Given the description of an element on the screen output the (x, y) to click on. 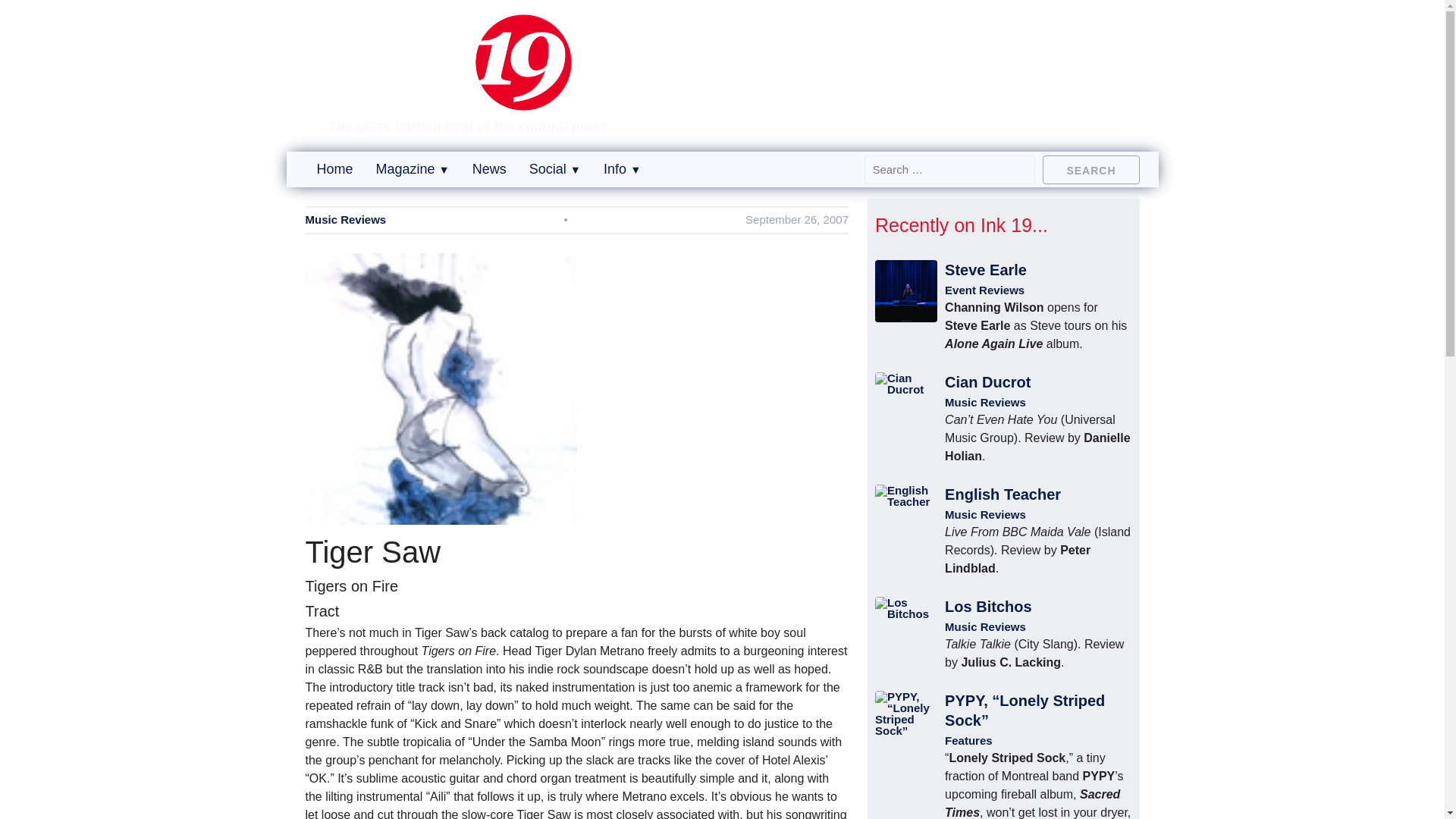
Search (1090, 168)
Search (1090, 168)
News (488, 168)
Ink 19 (471, 100)
Info (622, 168)
Search (1090, 168)
Magazine (412, 168)
Social (554, 168)
Music Reviews (344, 220)
Home (335, 168)
